Given the description of an element on the screen output the (x, y) to click on. 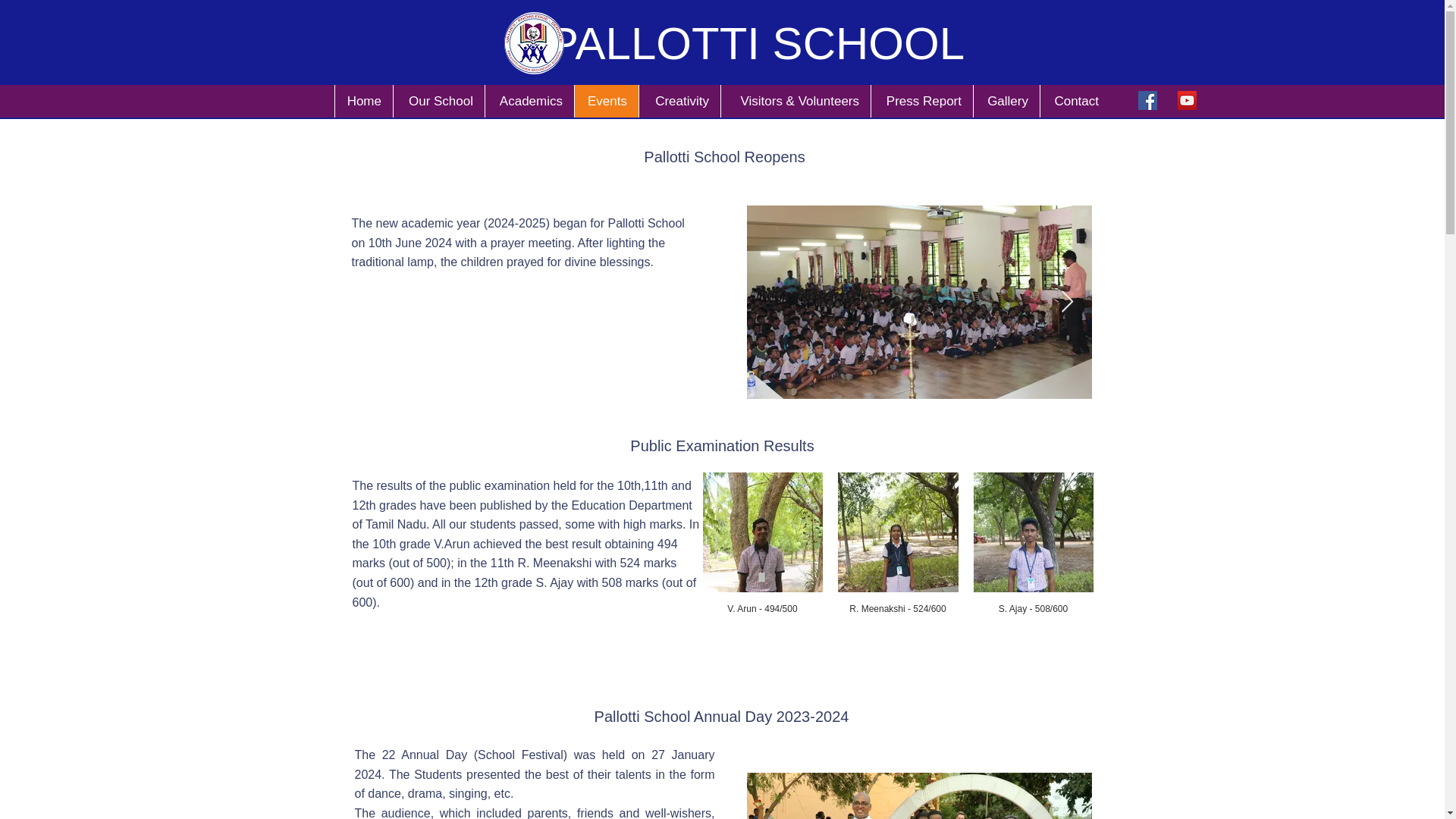
Academics (528, 101)
Creativity (679, 101)
Press Report (921, 101)
Home (363, 101)
Contact (1074, 101)
Events (606, 101)
